Given the description of an element on the screen output the (x, y) to click on. 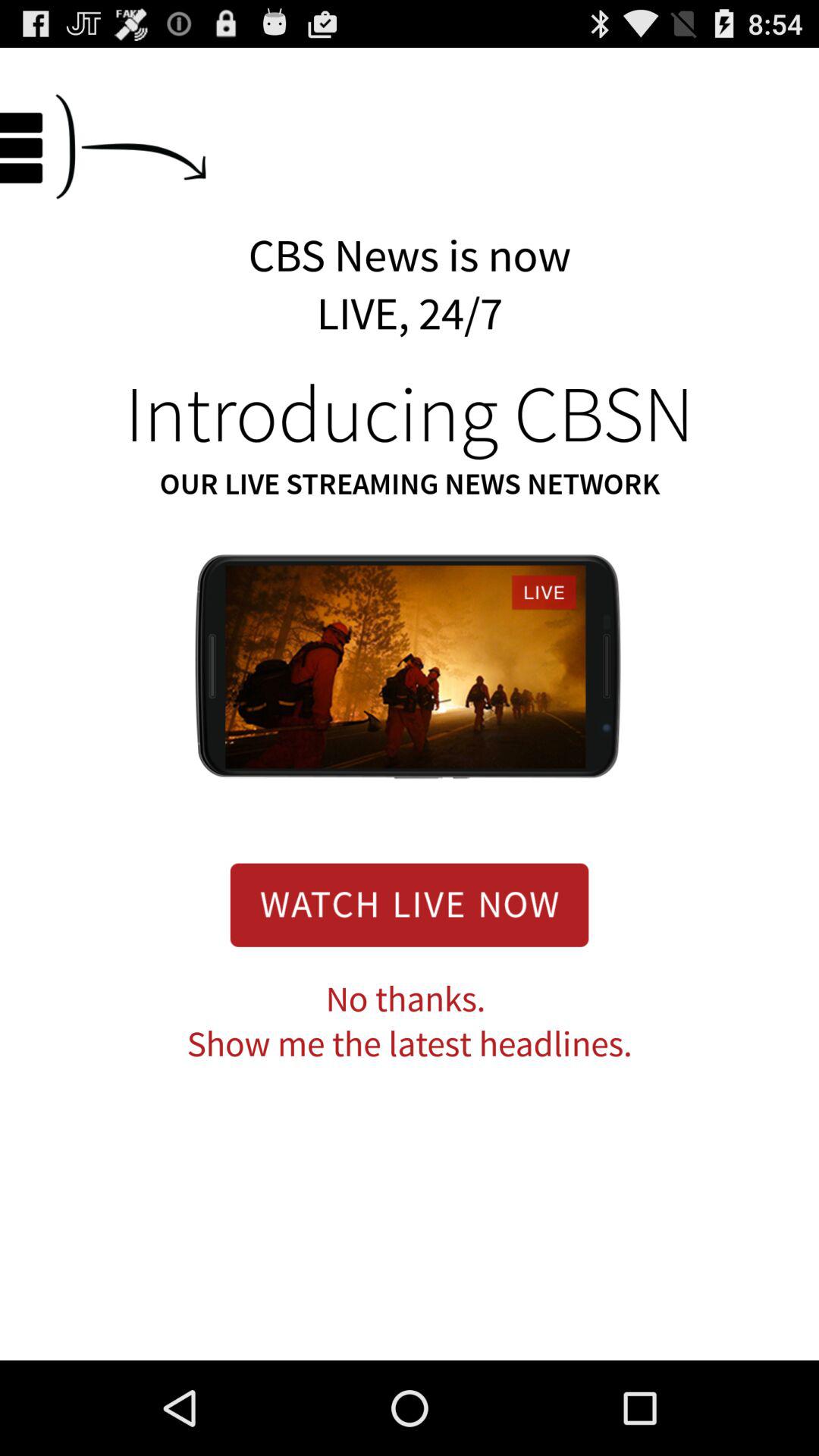
turn off no thanks show at the bottom (409, 1022)
